Given the description of an element on the screen output the (x, y) to click on. 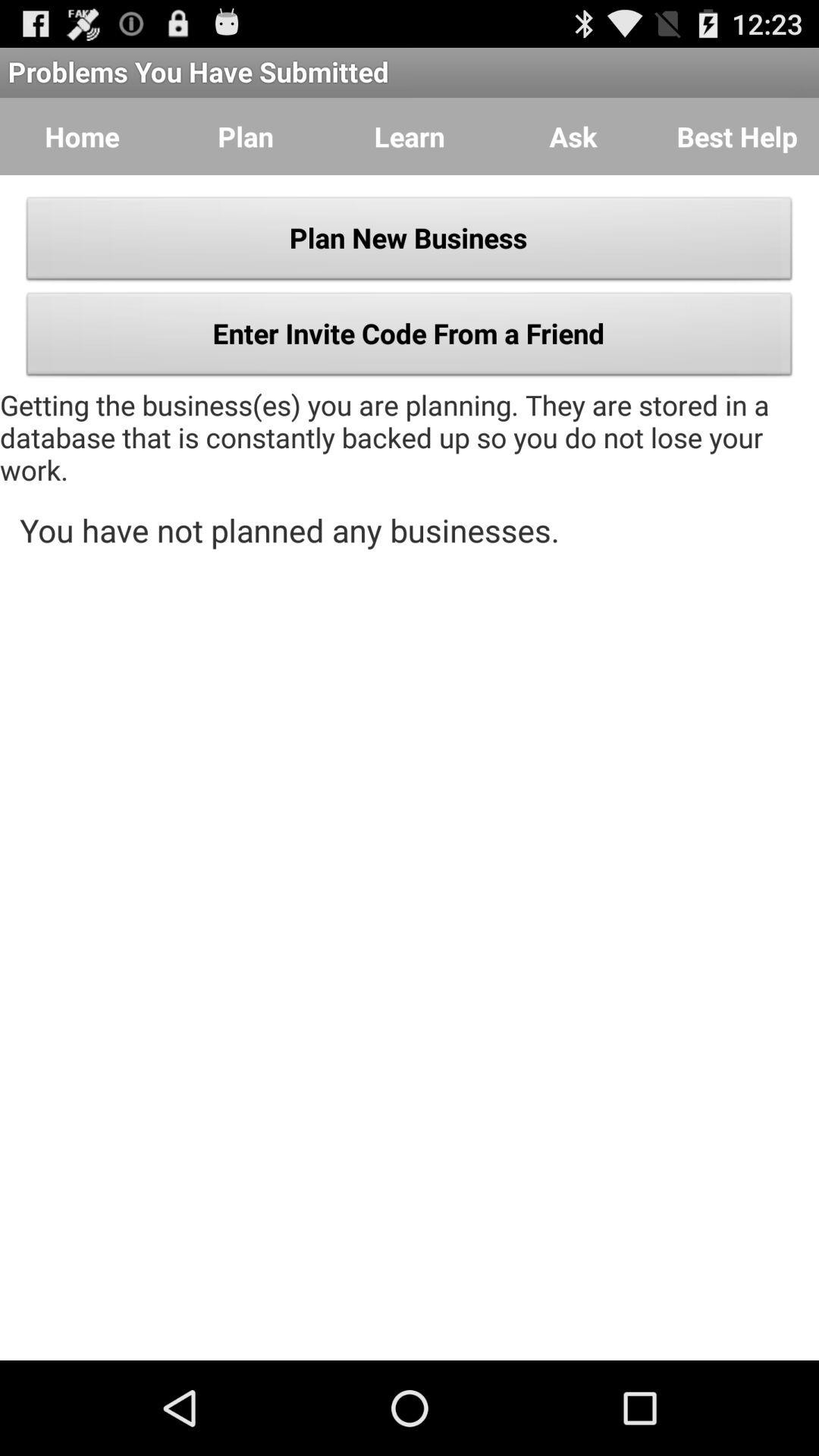
swipe until the best help (737, 136)
